Given the description of an element on the screen output the (x, y) to click on. 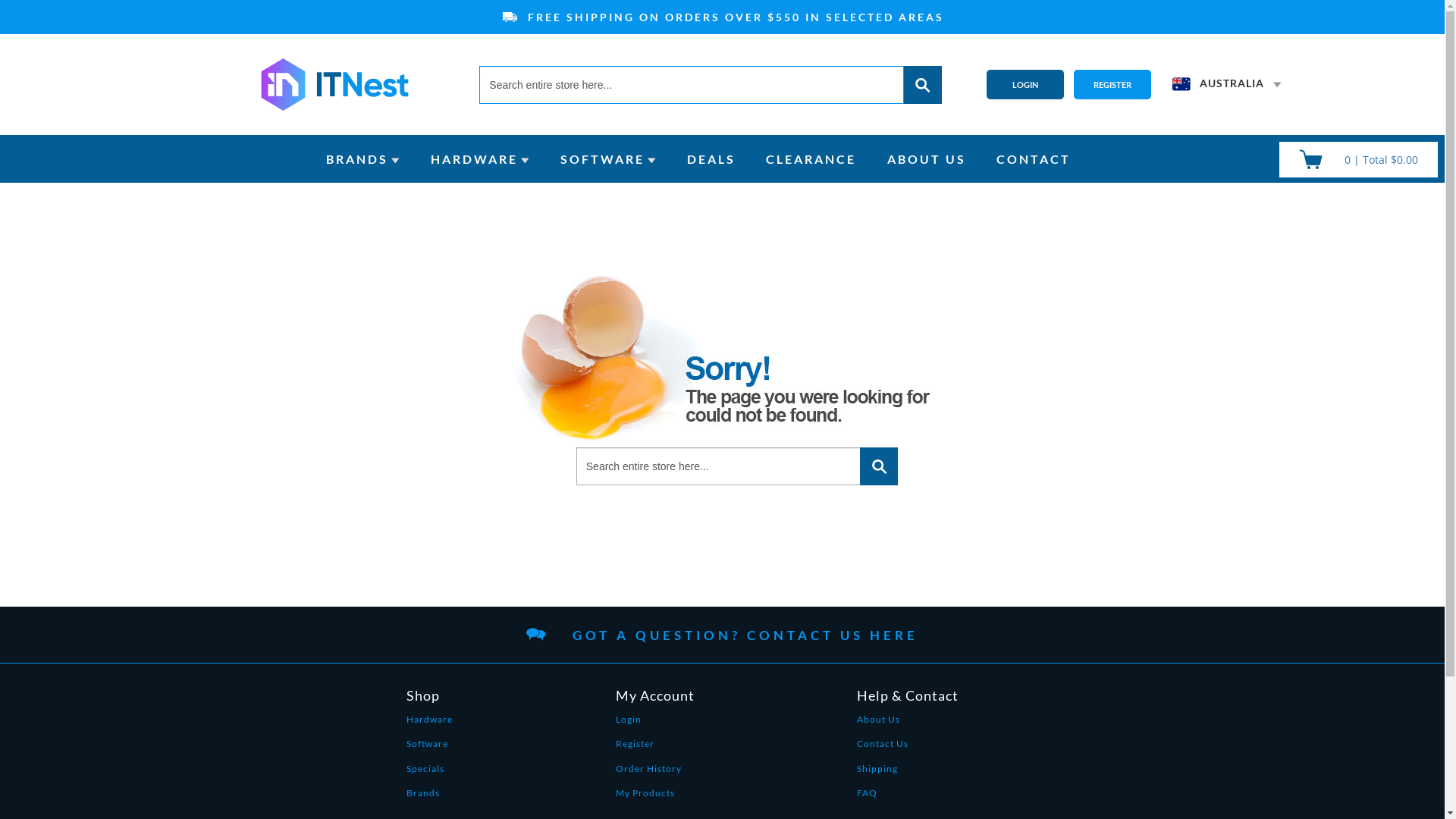
Contact Us Element type: text (907, 748)
About Us Element type: text (907, 724)
FAQ Element type: text (907, 797)
REGISTER Element type: text (1112, 84)
Login Element type: text (654, 724)
LOGIN Element type: text (1024, 84)
CONTACT Element type: text (1033, 158)
CLEARANCE Element type: text (810, 158)
  FREE SHIPPING ON ORDERS OVER $550 IN SELECTED AREAS Element type: text (721, 16)
Software Element type: text (429, 748)
Order History Element type: text (654, 773)
0 | Total $0.00 Element type: text (1358, 159)
Search Element type: text (878, 466)
DEALS Element type: text (711, 158)
SOFTWARE Element type: text (602, 158)
My Products Element type: text (654, 797)
Shipping Element type: text (907, 773)
ABOUT US Element type: text (926, 158)
CONTACT US HERE Element type: text (832, 639)
Hardware Element type: text (429, 724)
BRANDS Element type: text (357, 158)
Brands Element type: text (429, 797)
Register Element type: text (654, 748)
Search Element type: text (922, 84)
HARDWARE Element type: text (473, 158)
Specials Element type: text (429, 773)
